Given the description of an element on the screen output the (x, y) to click on. 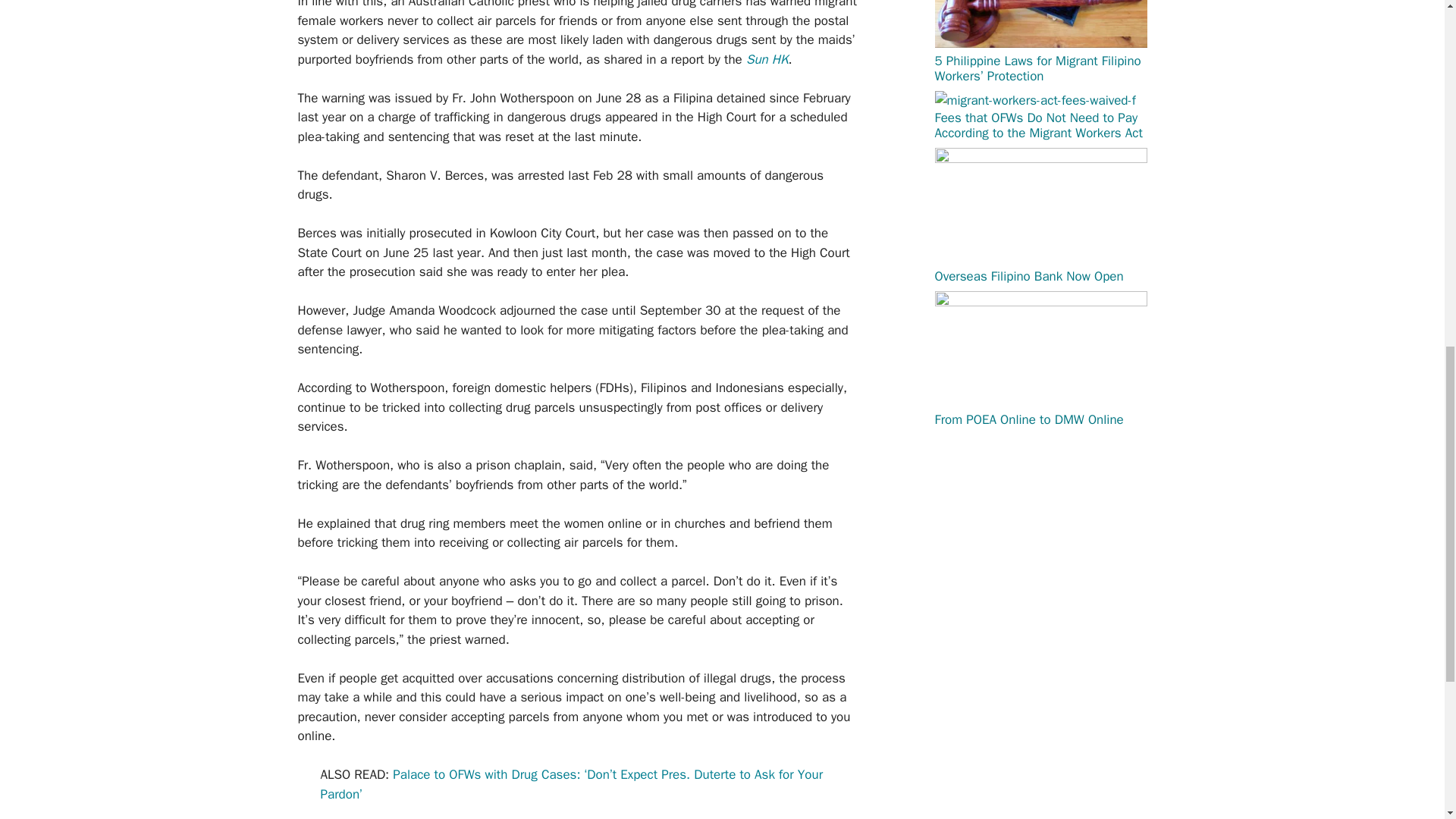
Scroll back to top (1406, 720)
